Given the description of an element on the screen output the (x, y) to click on. 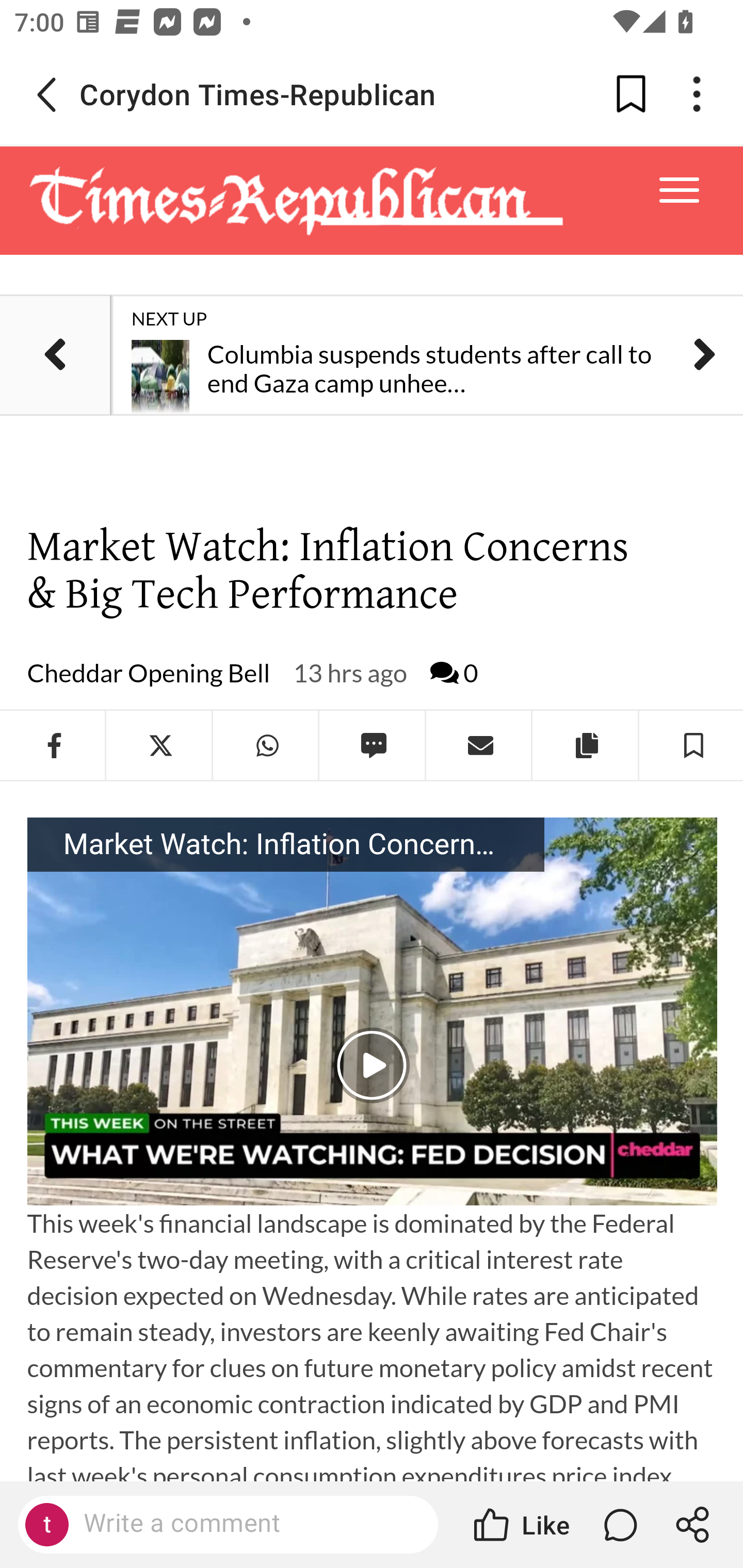
Like (519, 1524)
Write a comment (245, 1523)
